Given the description of an element on the screen output the (x, y) to click on. 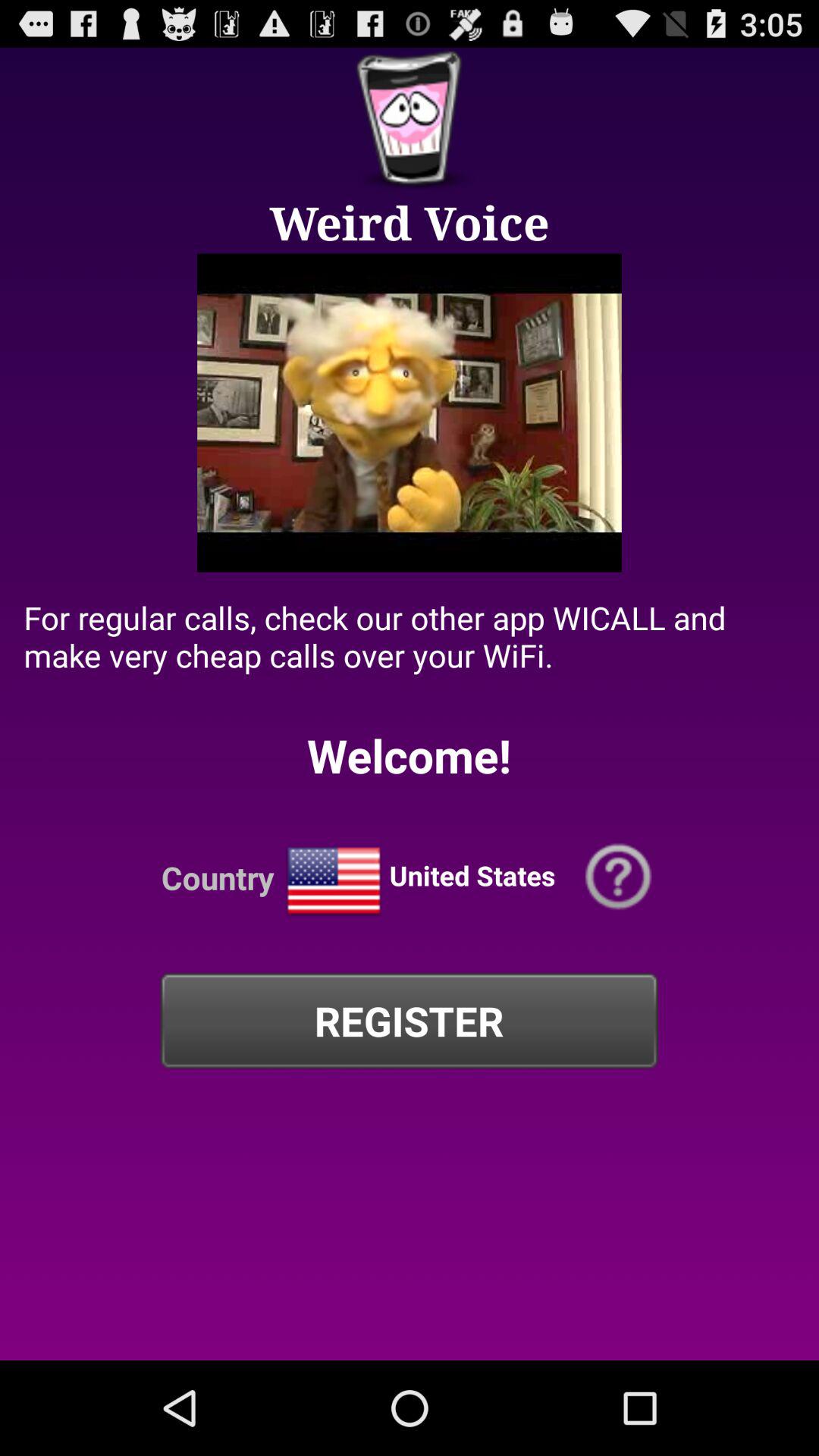
change country (333, 881)
